Given the description of an element on the screen output the (x, y) to click on. 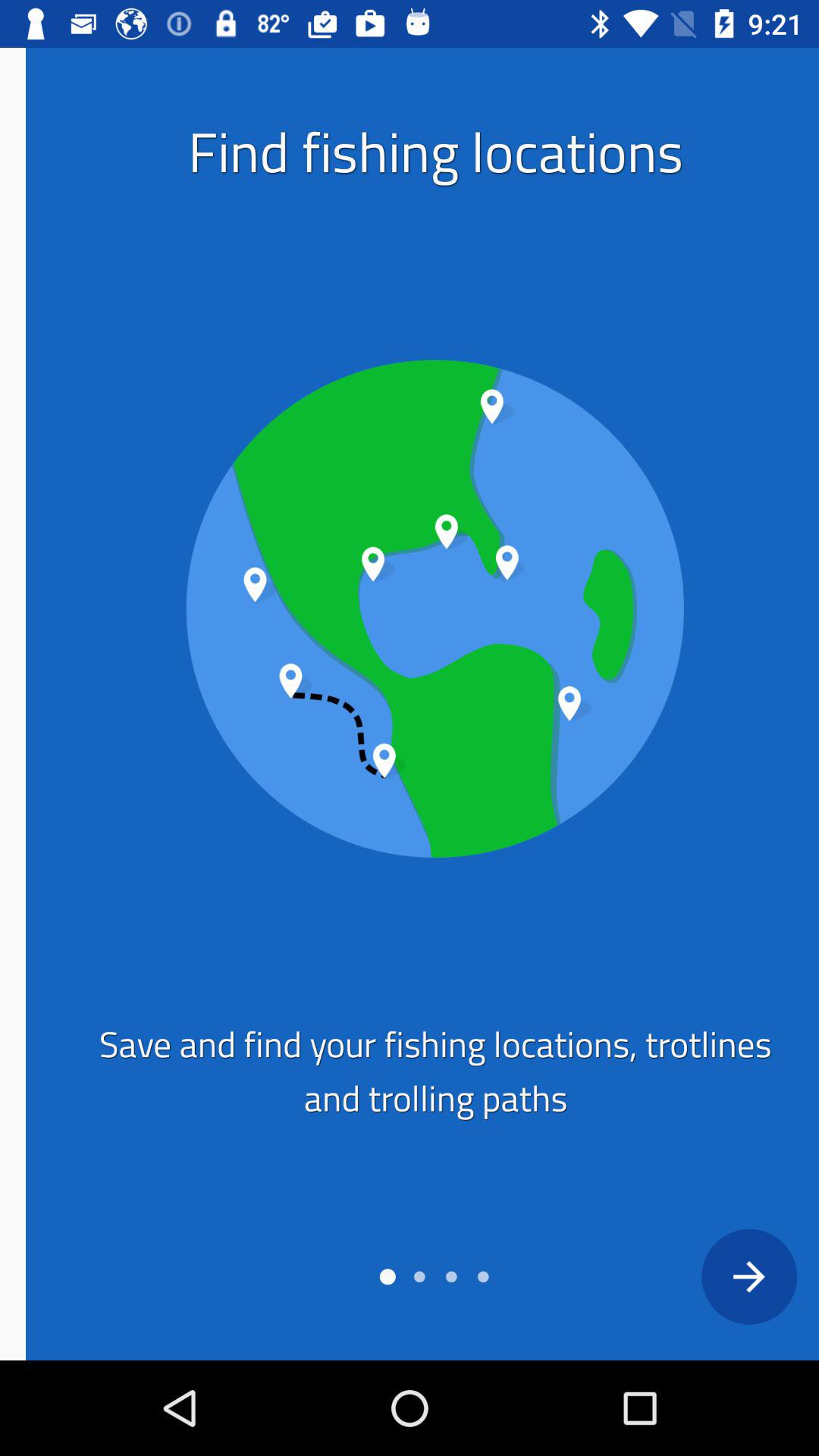
go next (723, 1276)
